Given the description of an element on the screen output the (x, y) to click on. 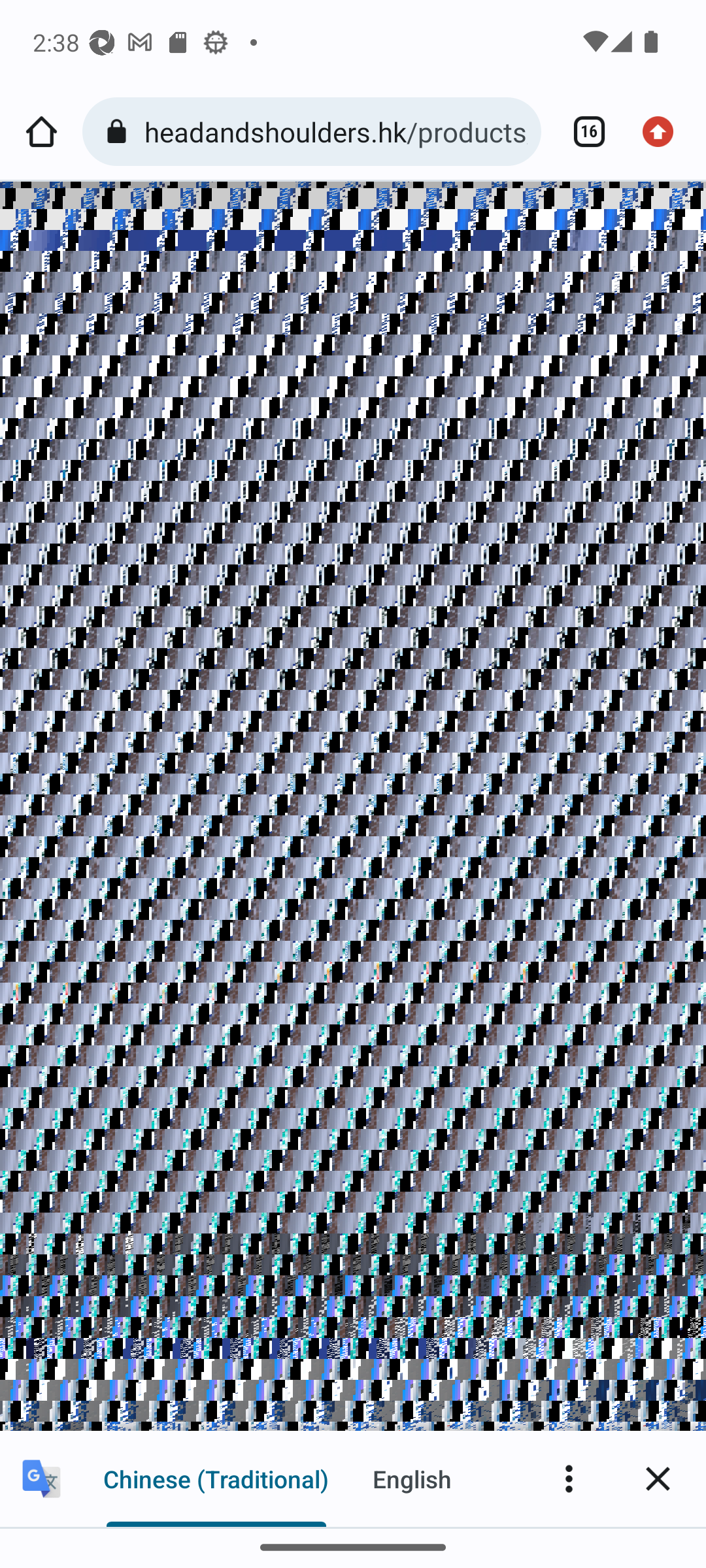
Home (41, 131)
Connection is secure (120, 131)
Switch or close tabs (582, 131)
Update available. More options (664, 131)
English (411, 1478)
More options (568, 1478)
Close (657, 1478)
